Given the description of an element on the screen output the (x, y) to click on. 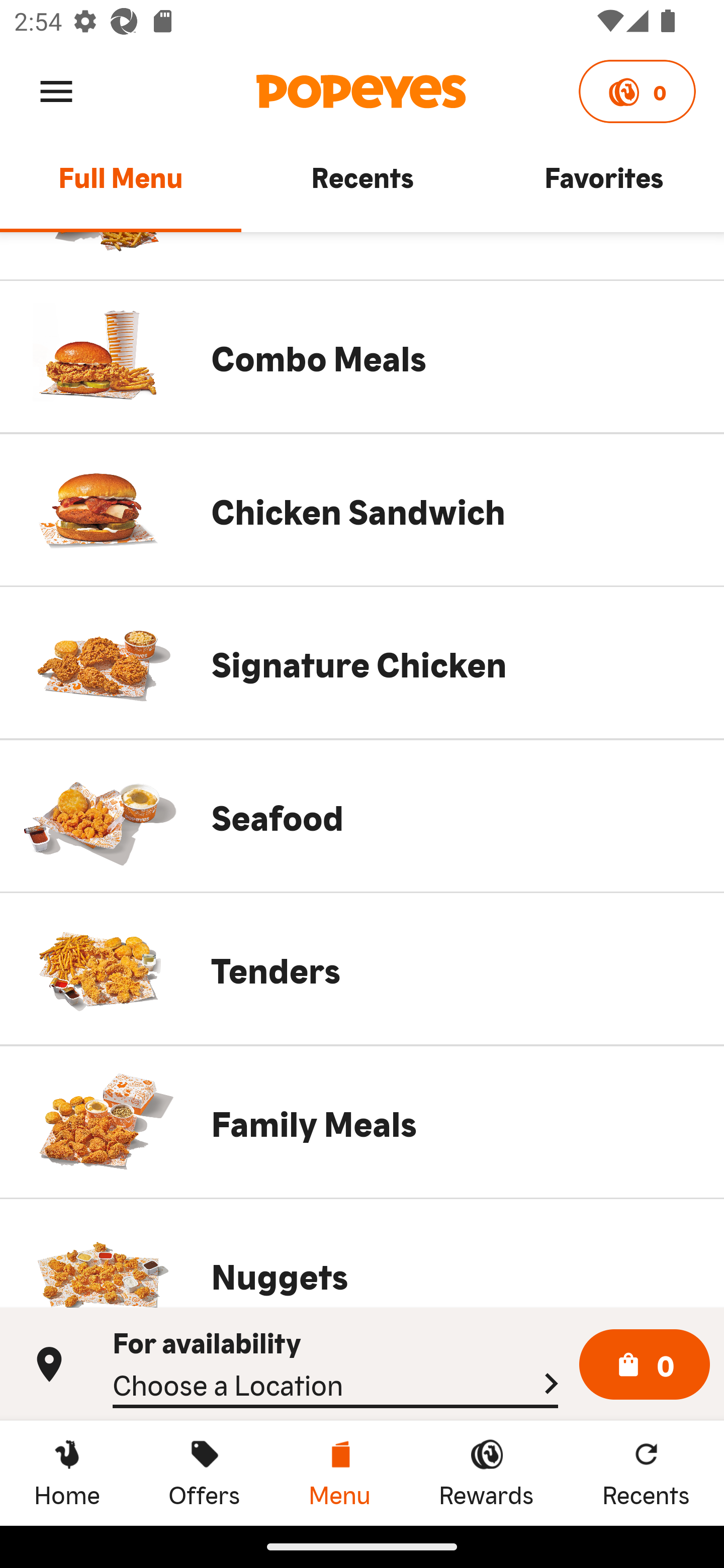
Menu  (56, 90)
0 Points 0 (636, 91)
Full Menu (120, 186)
Recents (361, 186)
Favorites (603, 186)
Seafood, Seafood Seafood Seafood (362, 816)
Chicken Tenders, Tenders Chicken Tenders Tenders (362, 968)
Nuggets, Nuggets Nuggets Nuggets (362, 1253)
0 Cart total  0 (644, 1364)
Home Home Home (66, 1472)
Offers Offers Offers (203, 1472)
Menu, current page Menu Menu, current page (339, 1472)
Rewards Rewards Rewards (486, 1472)
Recents Recents Recents (646, 1472)
